Given the description of an element on the screen output the (x, y) to click on. 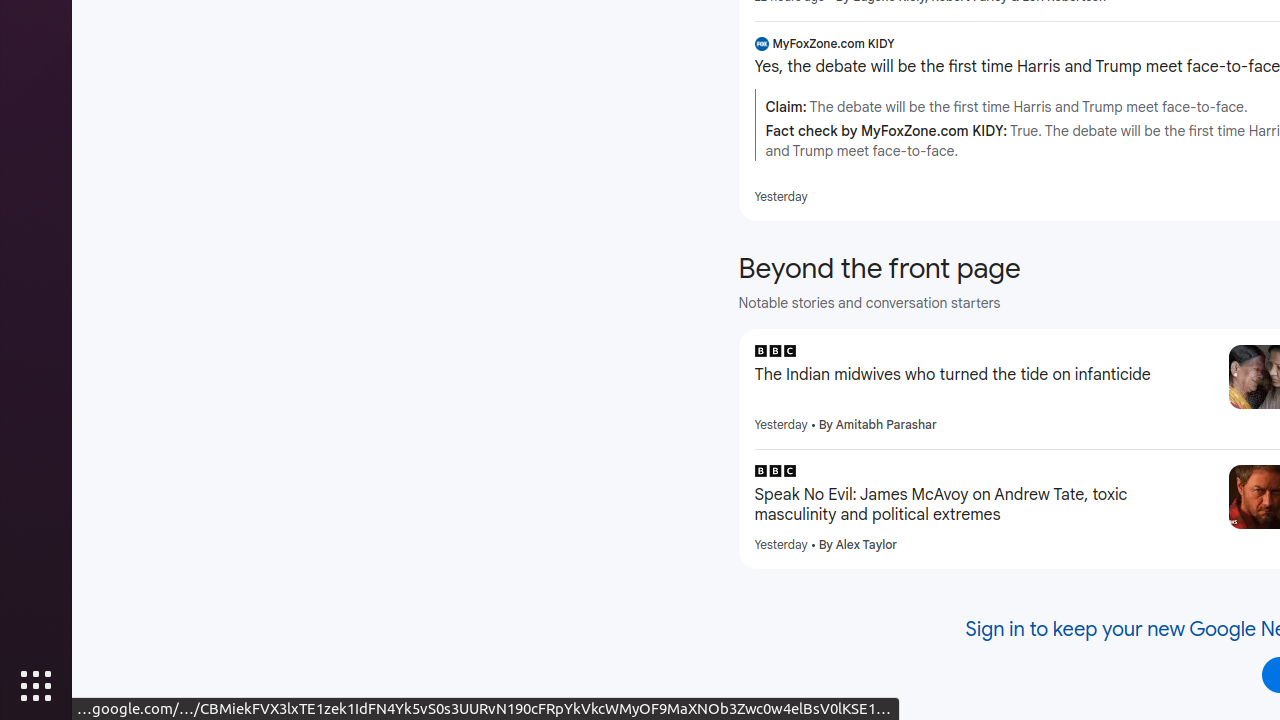
The Indian midwives who turned the tide on infanticide Element type: link (983, 375)
Speak No Evil: James McAvoy on Andrew Tate, toxic masculinity and political extremes Element type: link (983, 505)
More - Speak No Evil: James McAvoy on Andrew Tate, toxic masculinity and political extremes Element type: push-button (1206, 473)
More - The Indian midwives who turned the tide on infanticide Element type: push-button (1206, 354)
Show Applications Element type: toggle-button (36, 686)
